Given the description of an element on the screen output the (x, y) to click on. 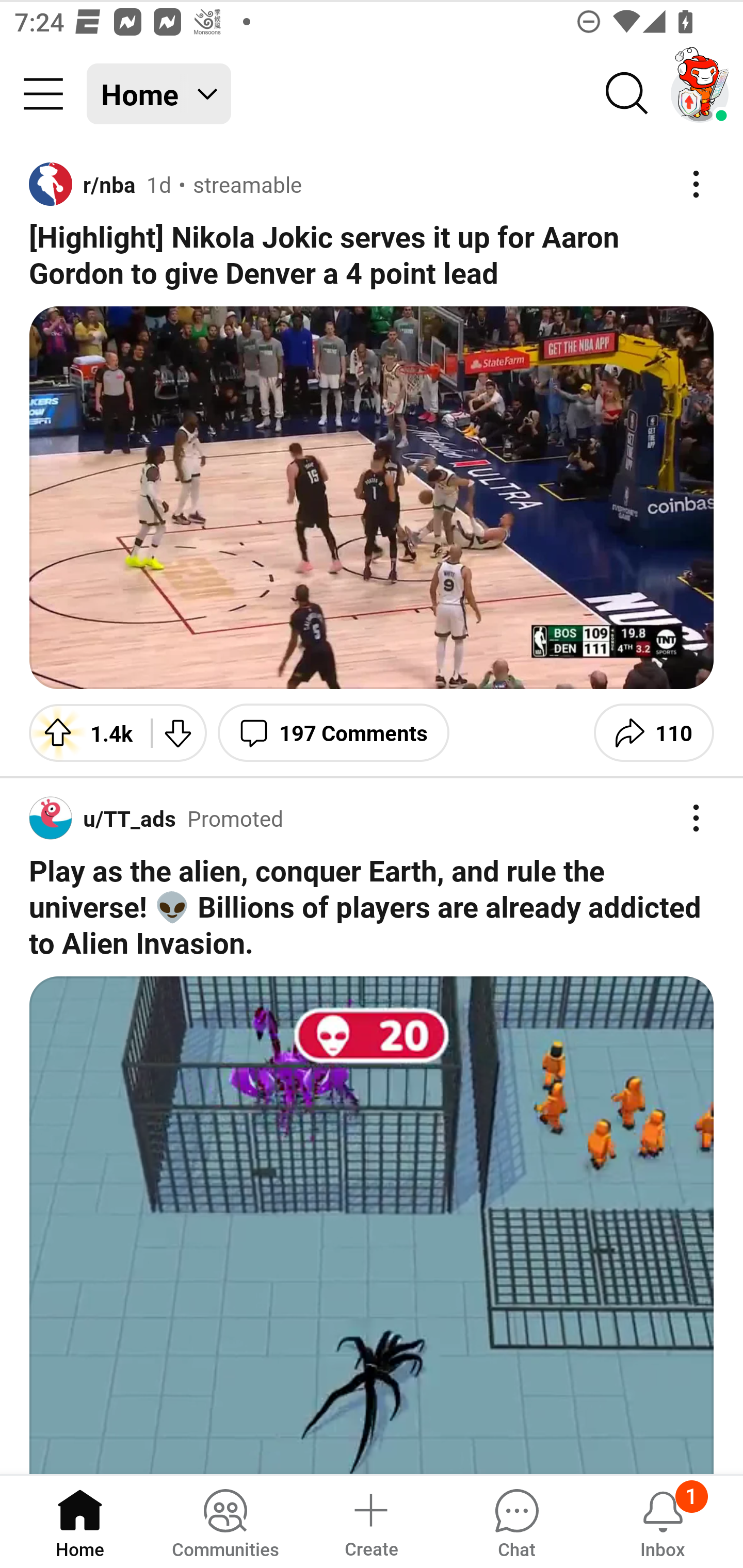
Community menu (43, 93)
Home Home feed (158, 93)
Search (626, 93)
TestAppium002 account (699, 93)
Home (80, 1520)
Communities (225, 1520)
Create a post Create (370, 1520)
Chat (516, 1520)
Inbox, has 1 notification 1 Inbox (662, 1520)
